Given the description of an element on the screen output the (x, y) to click on. 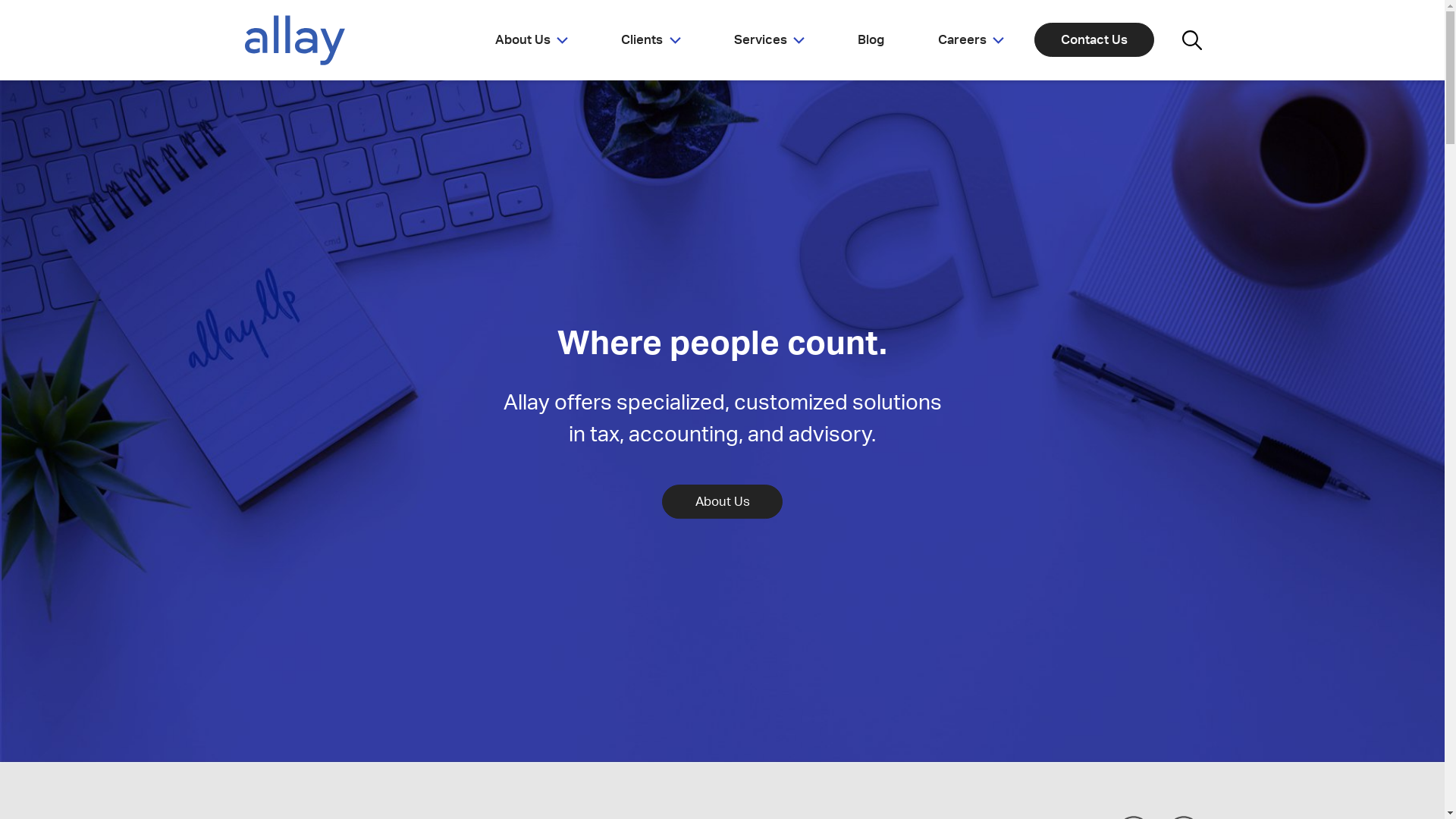
Clients Element type: text (650, 39)
Allay LLP Element type: text (294, 40)
About Us Element type: text (722, 501)
Contact Us Element type: text (1094, 39)
Careers Element type: text (970, 39)
Services Element type: text (769, 39)
Blog Element type: text (871, 39)
About Us Element type: text (531, 39)
